Given the description of an element on the screen output the (x, y) to click on. 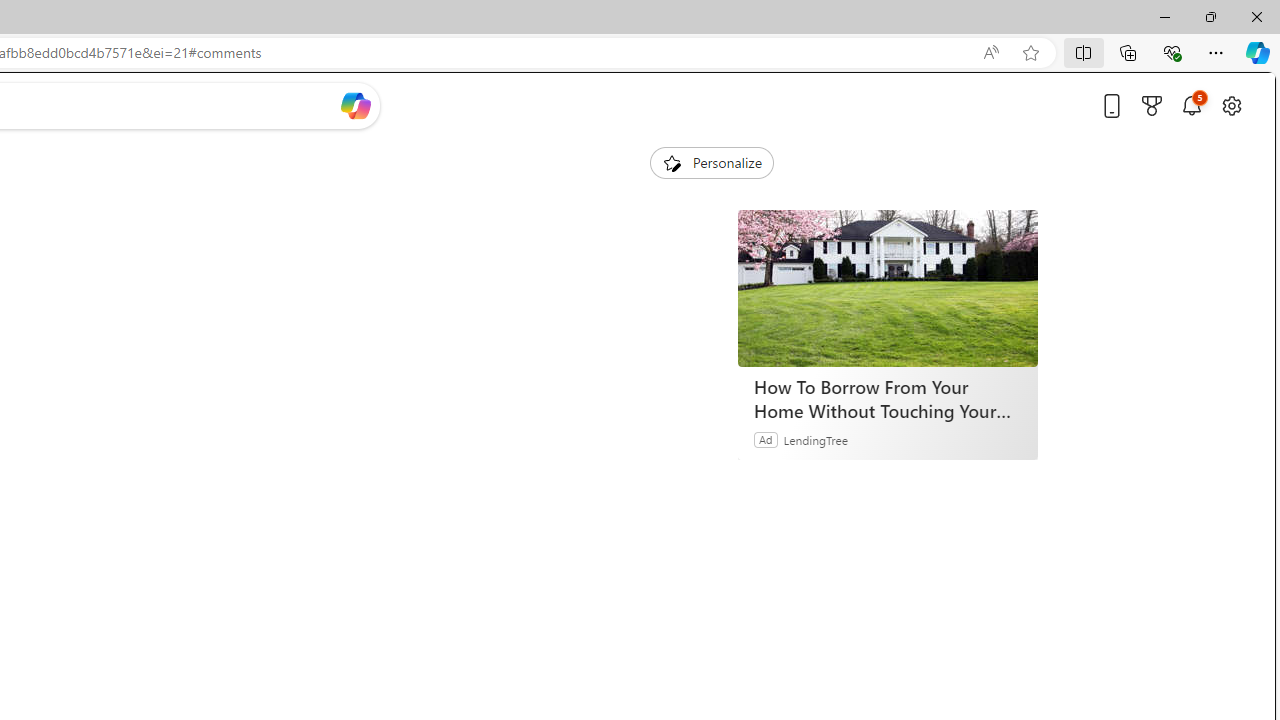
How To Borrow From Your Home Without Touching Your Mortgage (888, 288)
